Given the description of an element on the screen output the (x, y) to click on. 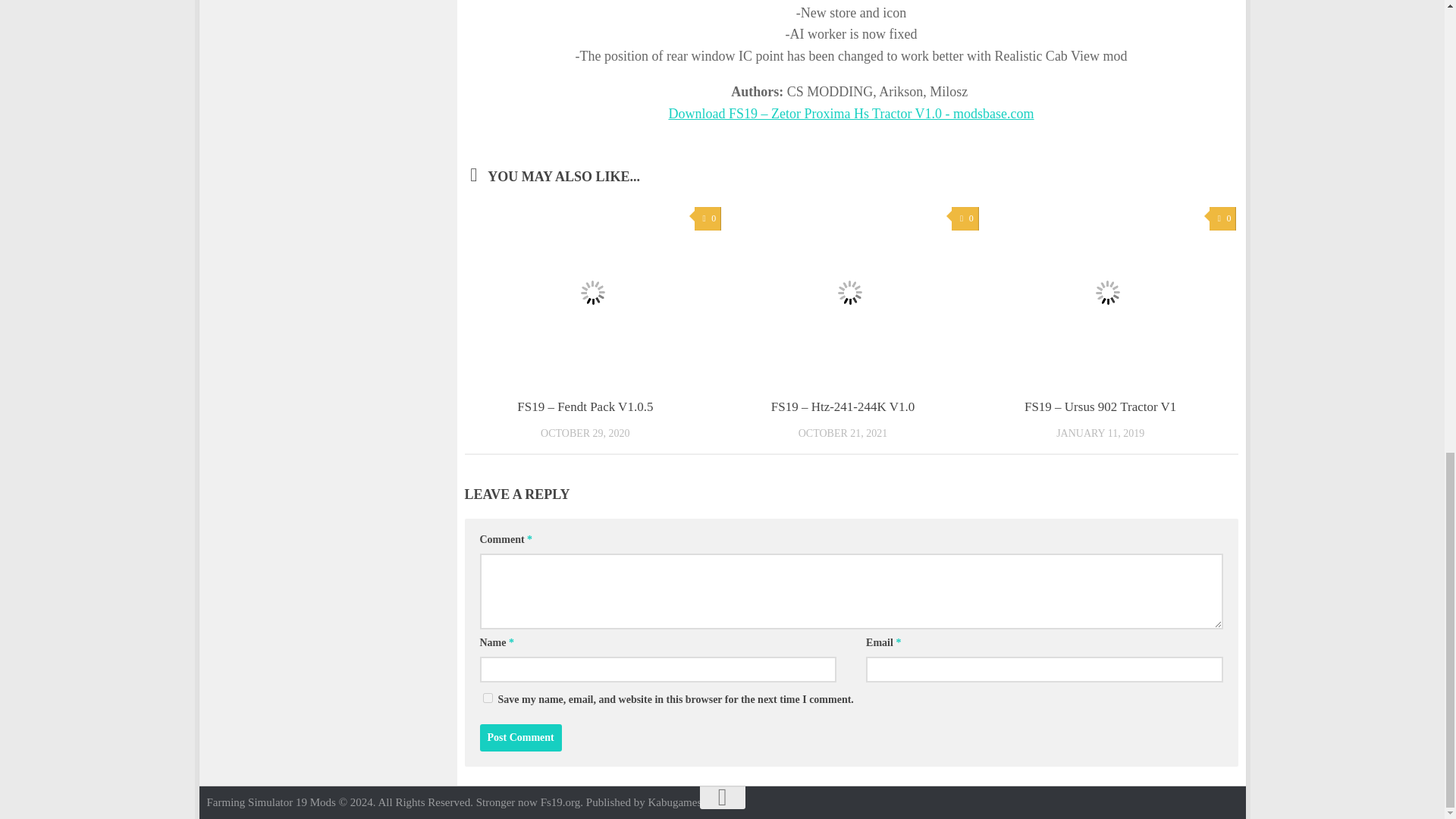
yes (486, 697)
Post Comment (519, 737)
